Given the description of an element on the screen output the (x, y) to click on. 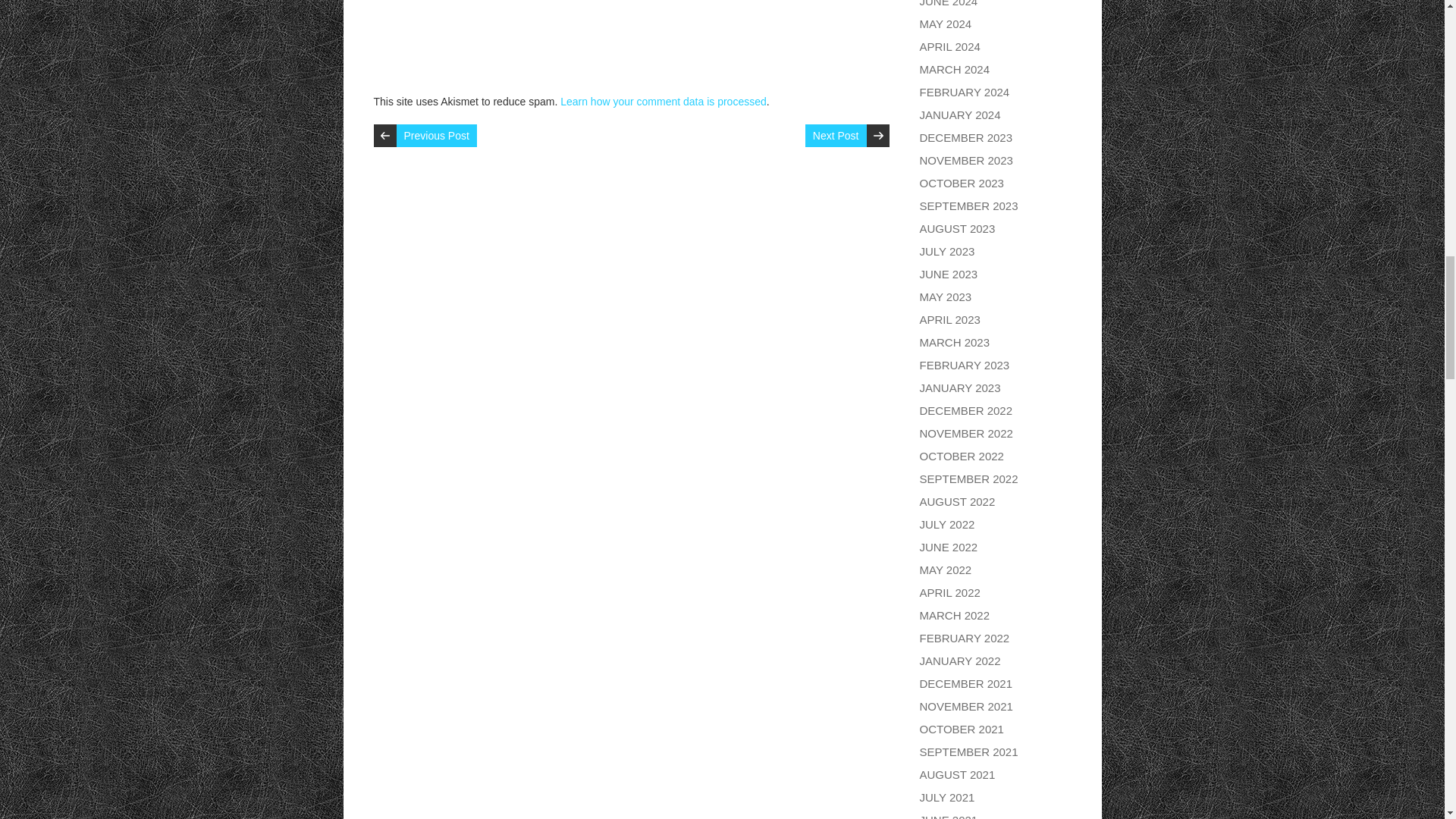
Comment Form (630, 39)
Previous Post (436, 135)
Next Post (835, 135)
Learn how your comment data is processed (663, 101)
